Given the description of an element on the screen output the (x, y) to click on. 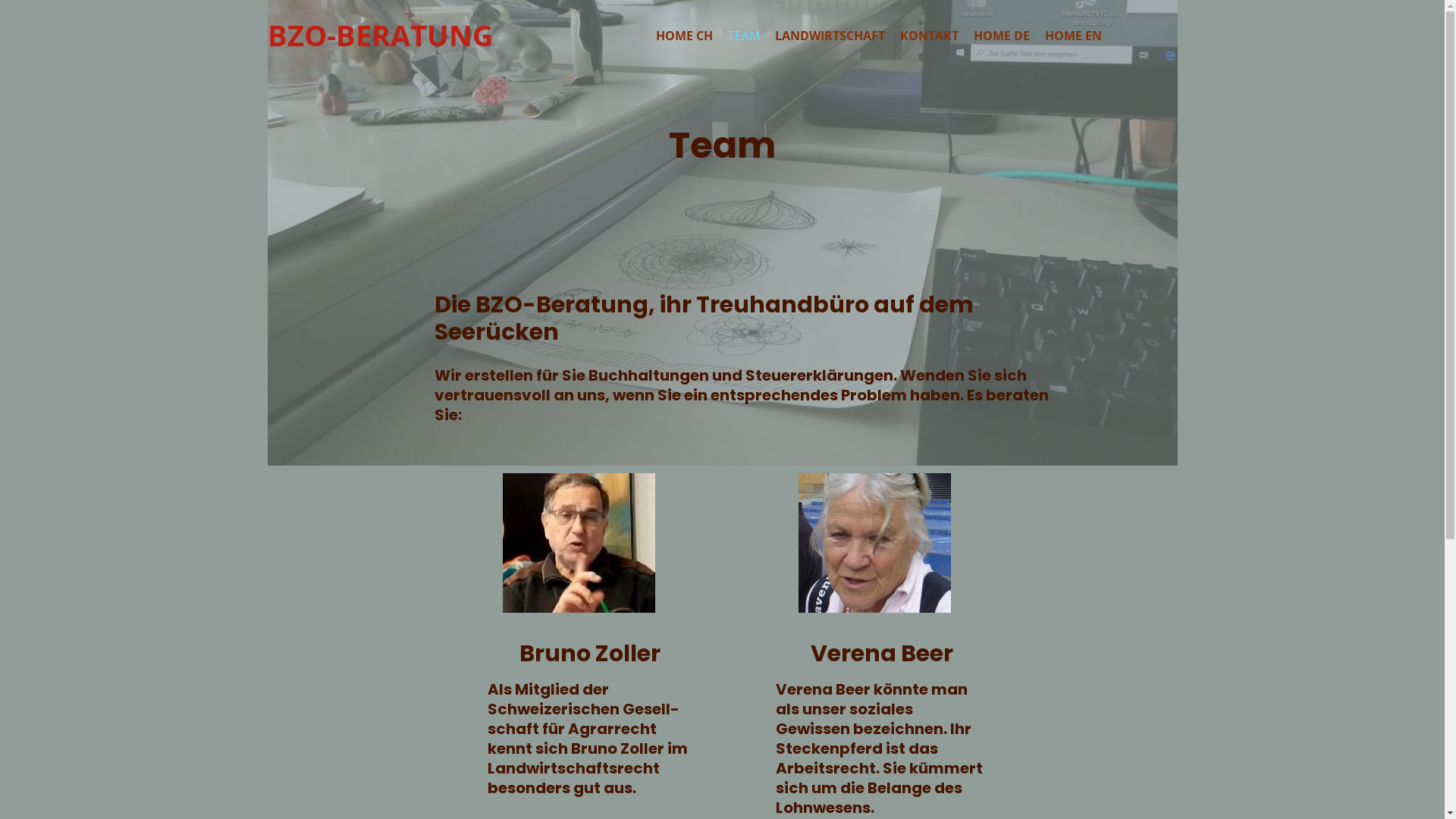
LANDWIRTSCHAFT Element type: text (829, 35)
KONTAKT Element type: text (928, 35)
HOME CH Element type: text (683, 35)
HOME DE Element type: text (1001, 35)
TEAM Element type: text (743, 35)
HOME EN Element type: text (1072, 35)
